Given the description of an element on the screen output the (x, y) to click on. 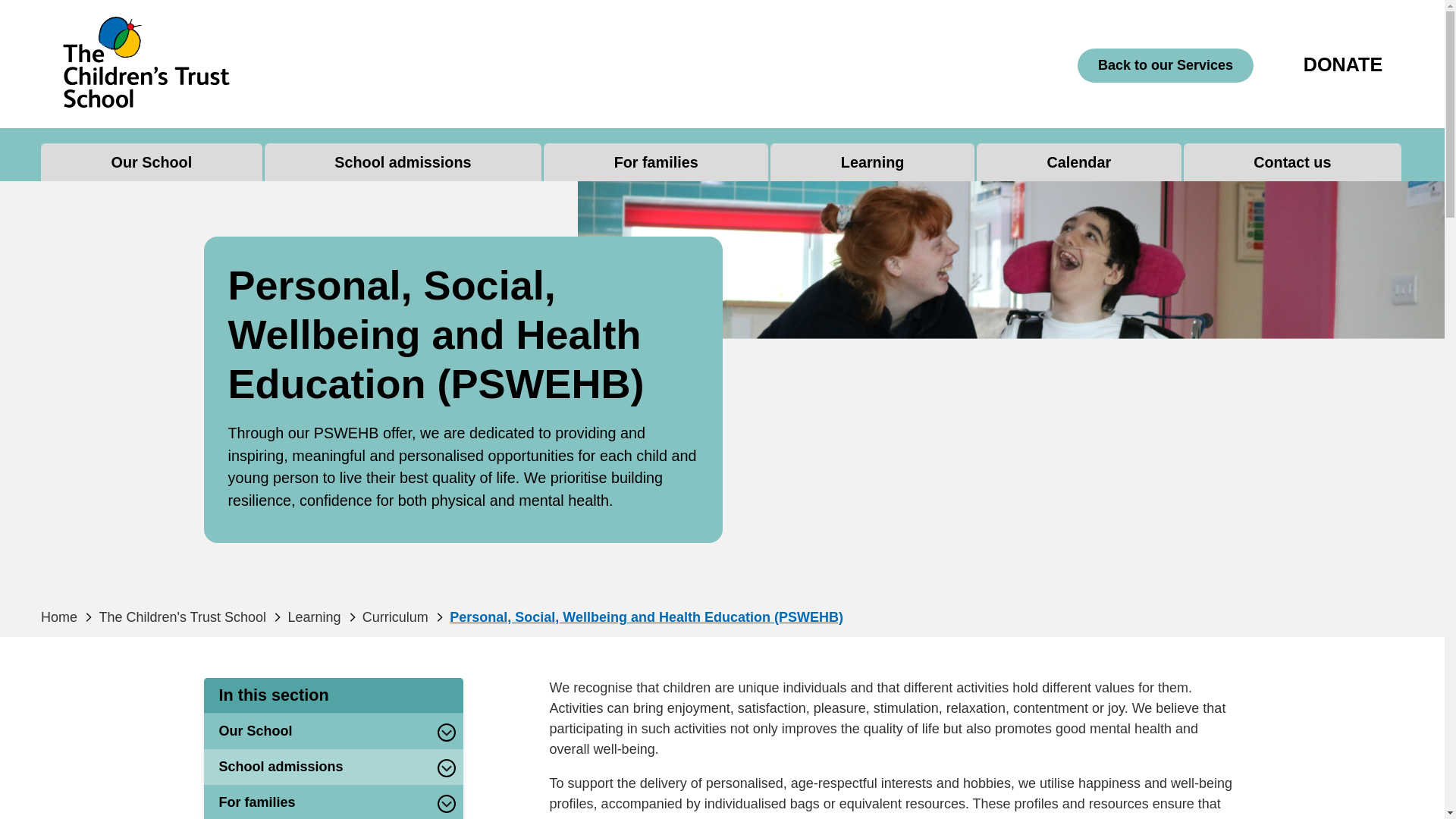
Learning at The Children's Trust School (871, 161)
School admissions (402, 161)
Our School (151, 161)
Calendar (1078, 161)
DONATE (1342, 64)
For families (655, 161)
School admissions (402, 161)
Back to our Services (1165, 65)
Learning (871, 161)
